Given the description of an element on the screen output the (x, y) to click on. 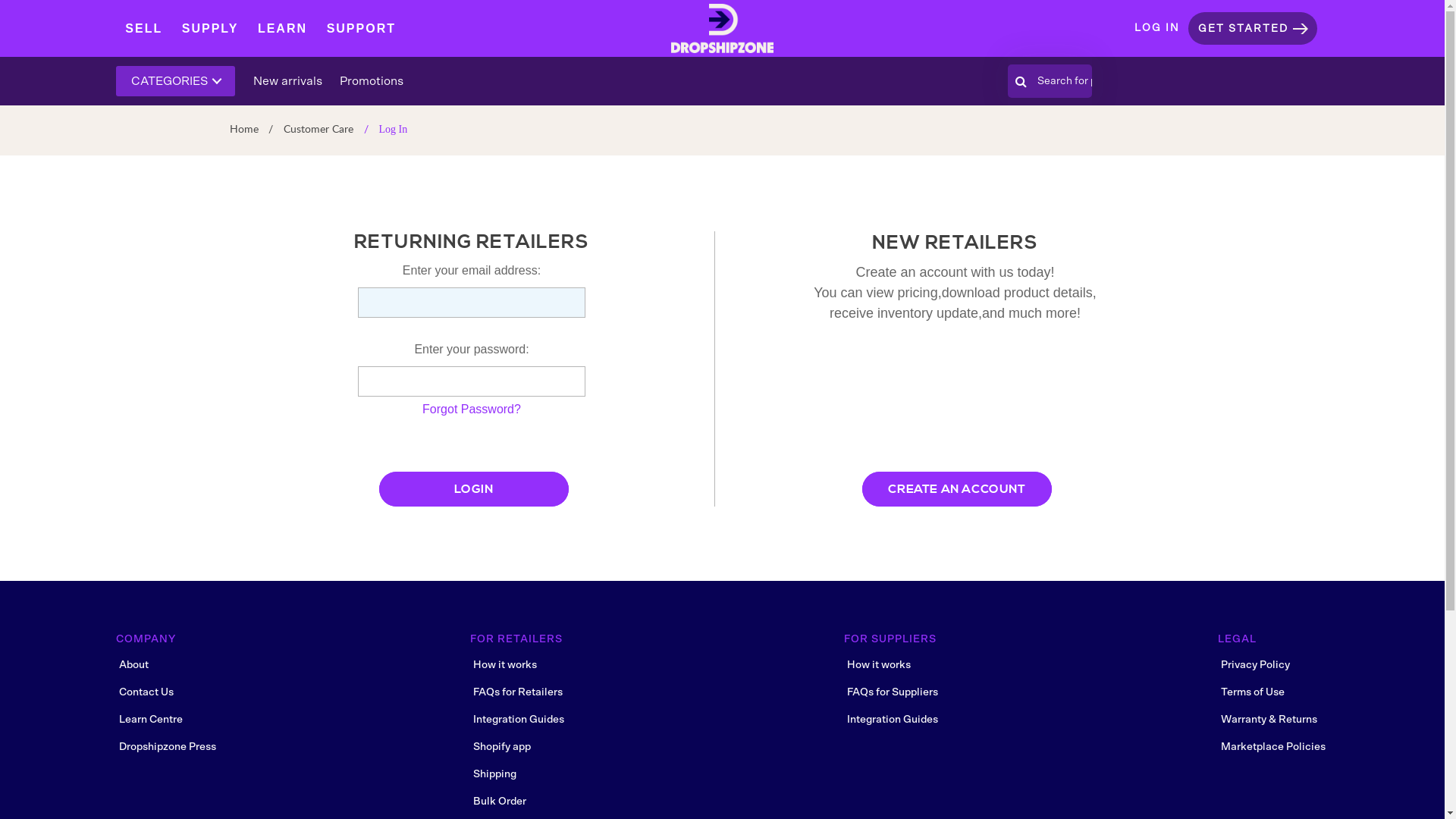
Integration Guides Element type: text (518, 718)
CREATE AN ACCOUNT Element type: text (956, 488)
Integration Guides Element type: text (892, 718)
How it works Element type: text (504, 663)
LEARN Element type: text (282, 27)
Warranty & Returns Element type: text (1268, 718)
Promotions Element type: text (371, 80)
New arrivals Element type: text (287, 80)
SUPPORT Element type: text (360, 27)
Forgot Password? Element type: text (471, 409)
GET STARTED Element type: text (1243, 28)
Contact Us Element type: text (145, 690)
Learn Centre Element type: text (150, 718)
How it works Element type: text (878, 663)
Terms of Use Element type: text (1252, 690)
FAQs for Retailers Element type: text (517, 690)
SUPPLY Element type: text (210, 27)
Bulk Order Element type: text (499, 799)
Password Element type: hover (471, 381)
Email Address Element type: hover (471, 302)
Shipping Element type: text (494, 772)
About Element type: text (132, 663)
Dropshipzone Press Element type: text (166, 745)
Shopify app Element type: text (501, 745)
COMPANY Element type: text (160, 642)
Privacy Policy Element type: text (1254, 663)
FOR SUPPLIERS Element type: text (905, 642)
Dropshipzone Element type: hover (721, 28)
Home Element type: text (243, 128)
SELL Element type: text (143, 27)
LOGIN Element type: text (473, 484)
FAQs for Suppliers Element type: text (892, 690)
Customer Care Element type: text (318, 128)
LOG IN Element type: text (1156, 28)
CATEGORIES Element type: text (174, 80)
Marketplace Policies Element type: text (1272, 745)
FOR RETAILERS Element type: text (531, 642)
LEGAL Element type: text (1251, 642)
